Given the description of an element on the screen output the (x, y) to click on. 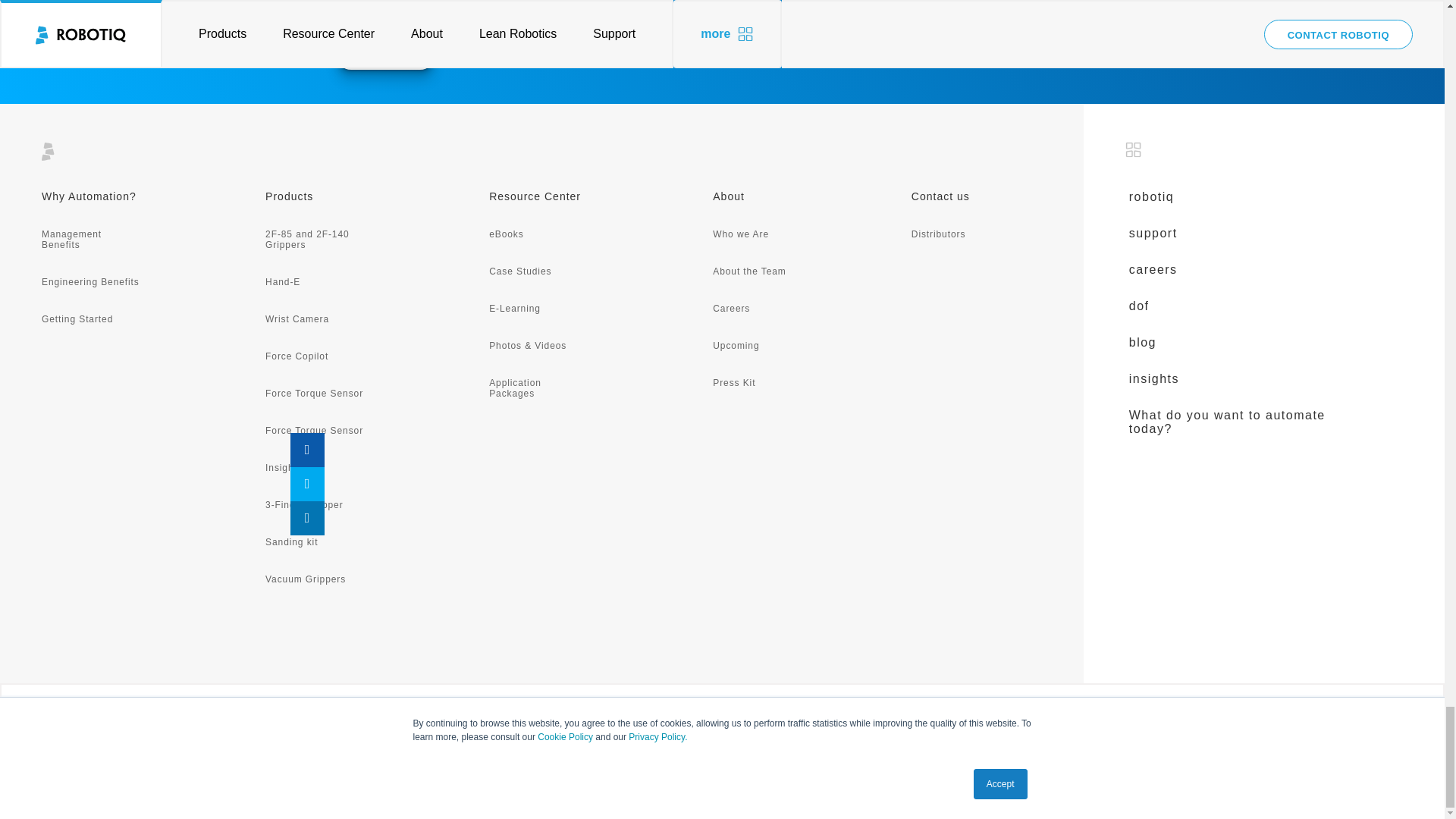
Subscribe (385, 54)
